Given the description of an element on the screen output the (x, y) to click on. 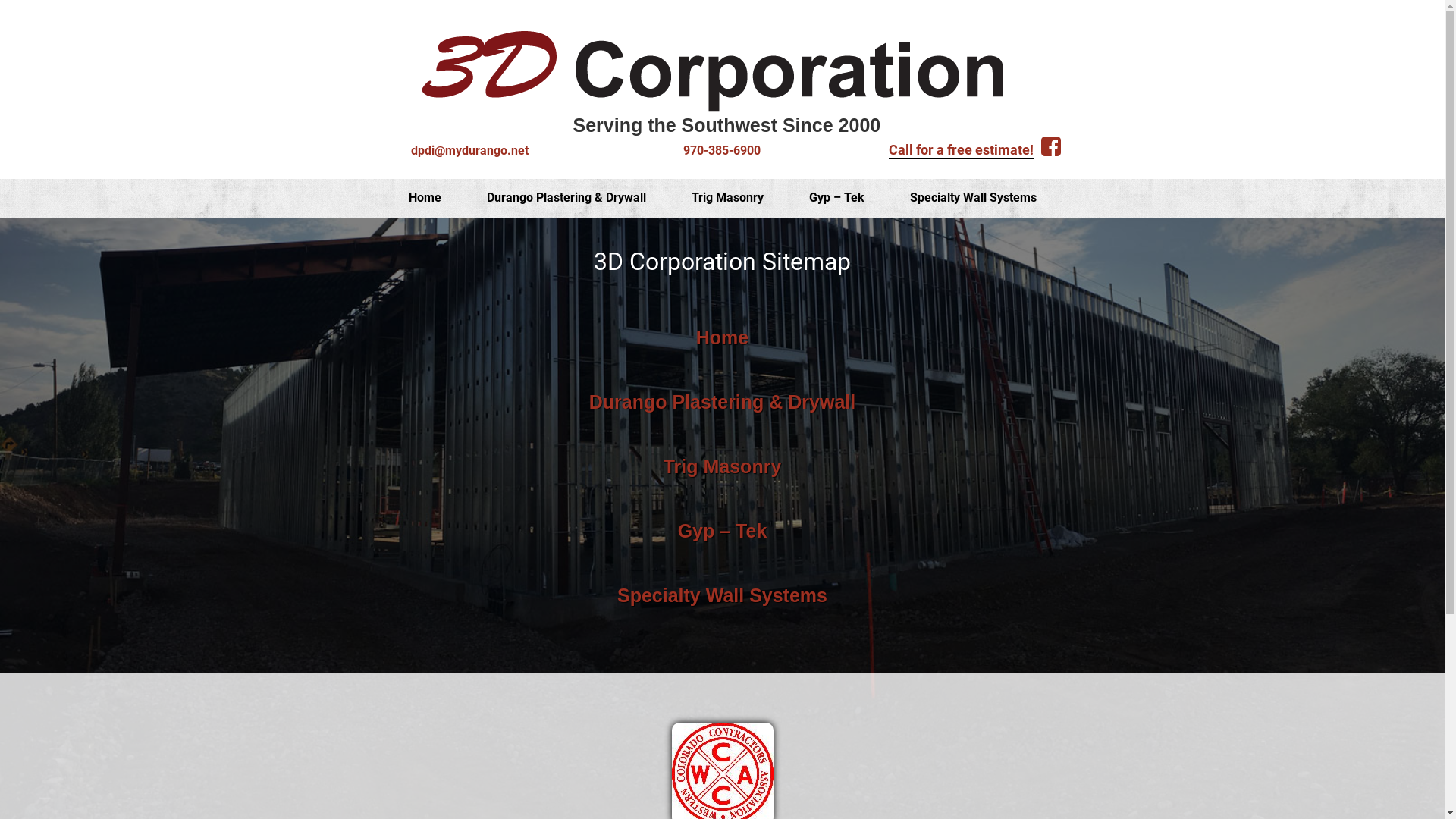
3D Corporation Element type: hover (712, 71)
Home Element type: text (424, 197)
970-385-6900 Element type: text (721, 150)
dpdi@mydurango.net Element type: text (469, 150)
Trig Masonry Element type: text (721, 466)
Durango Plastering & Drywall Element type: text (721, 402)
Specialty Wall Systems Element type: text (721, 595)
Specialty Wall Systems Element type: text (973, 197)
Home Element type: text (721, 337)
Durango Plastering & Drywall Element type: text (566, 197)
Trig Masonry Element type: text (727, 197)
Call for a free estimate! Element type: text (960, 150)
